Given the description of an element on the screen output the (x, y) to click on. 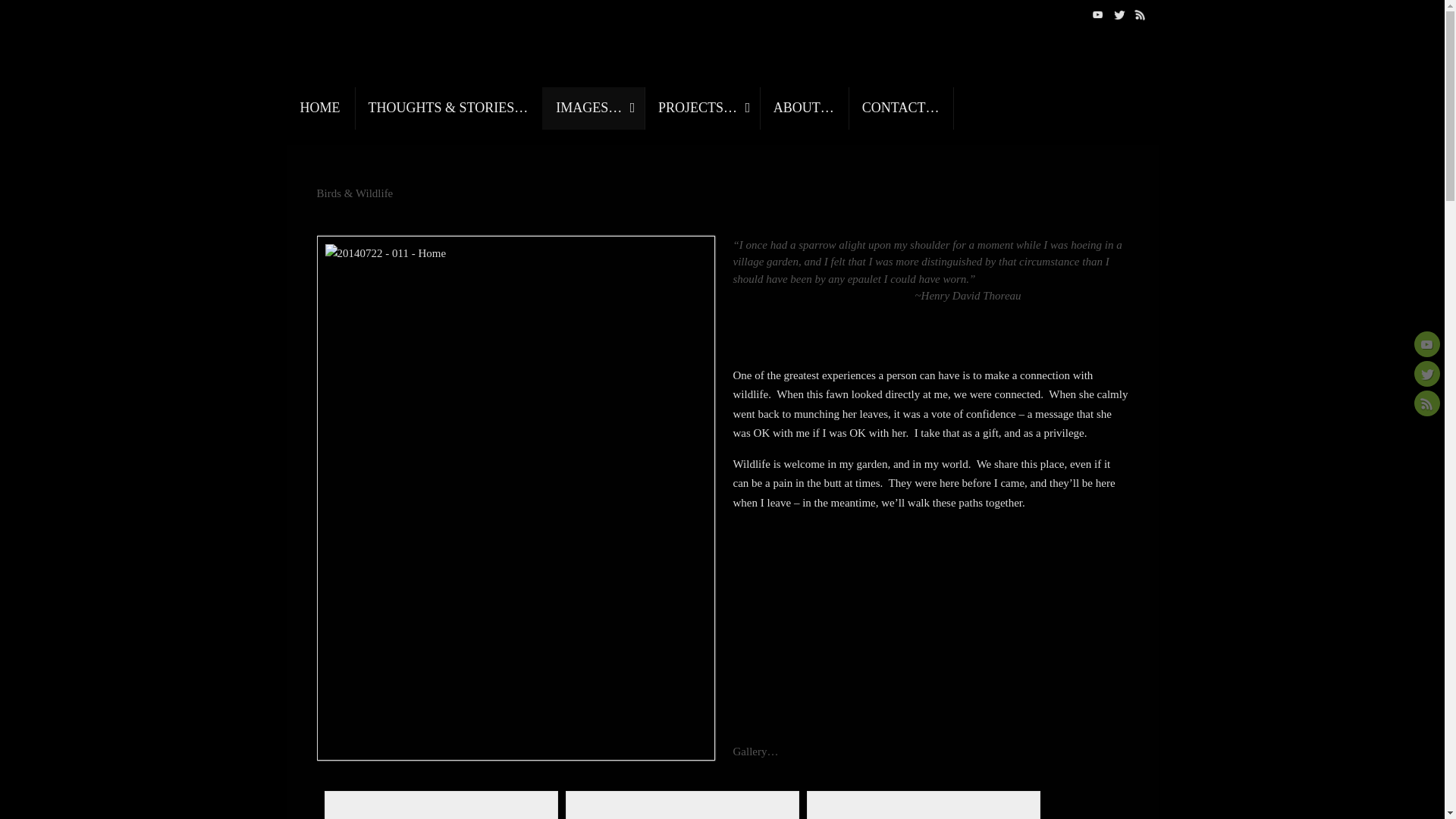
Twitter (1118, 14)
Twitter (1426, 373)
YouTube (1426, 344)
RSS (1426, 403)
HOME (320, 107)
YouTube (1097, 14)
RSS (1140, 14)
